Given the description of an element on the screen output the (x, y) to click on. 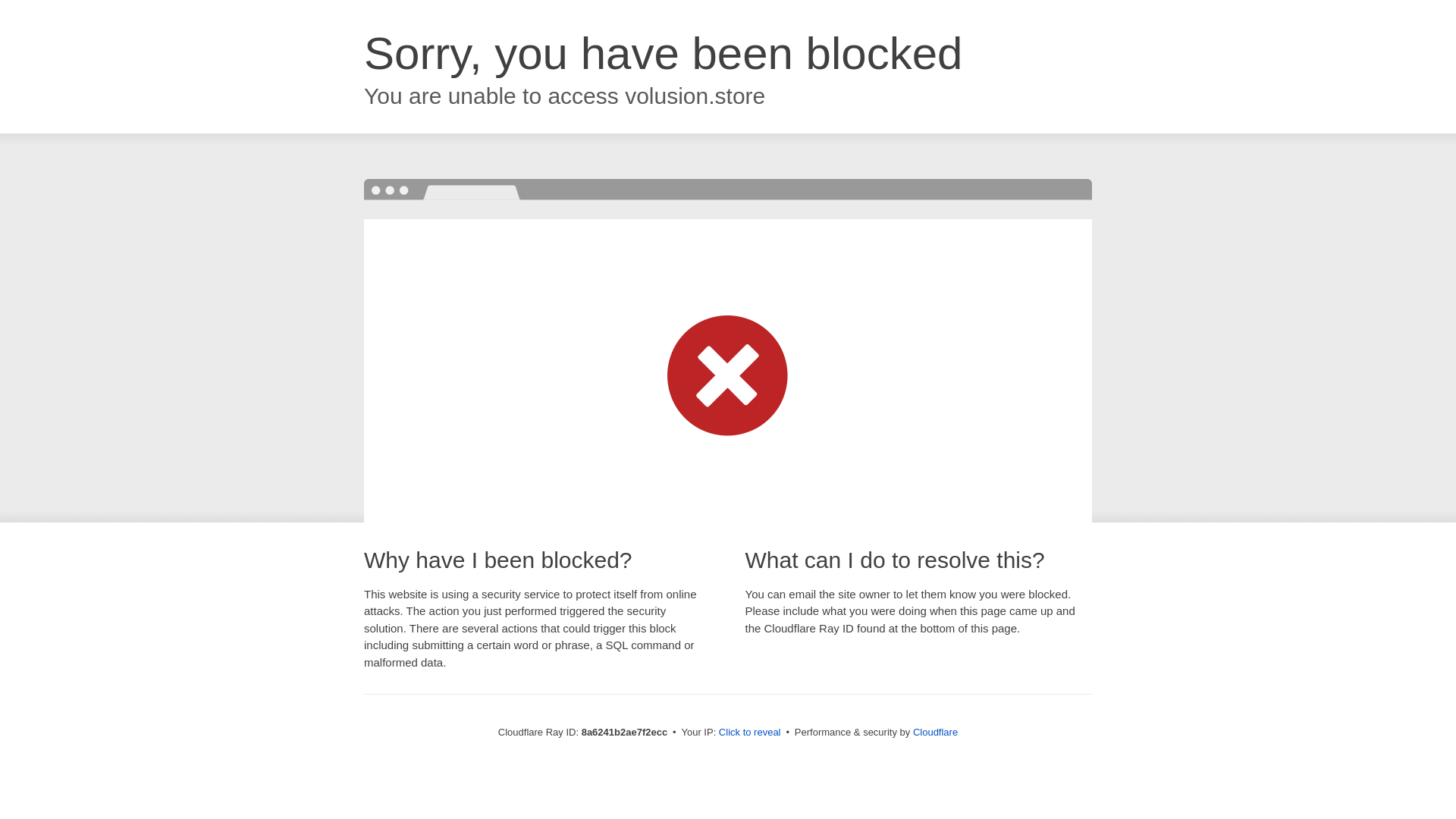
Cloudflare (935, 731)
Click to reveal (749, 732)
